Given the description of an element on the screen output the (x, y) to click on. 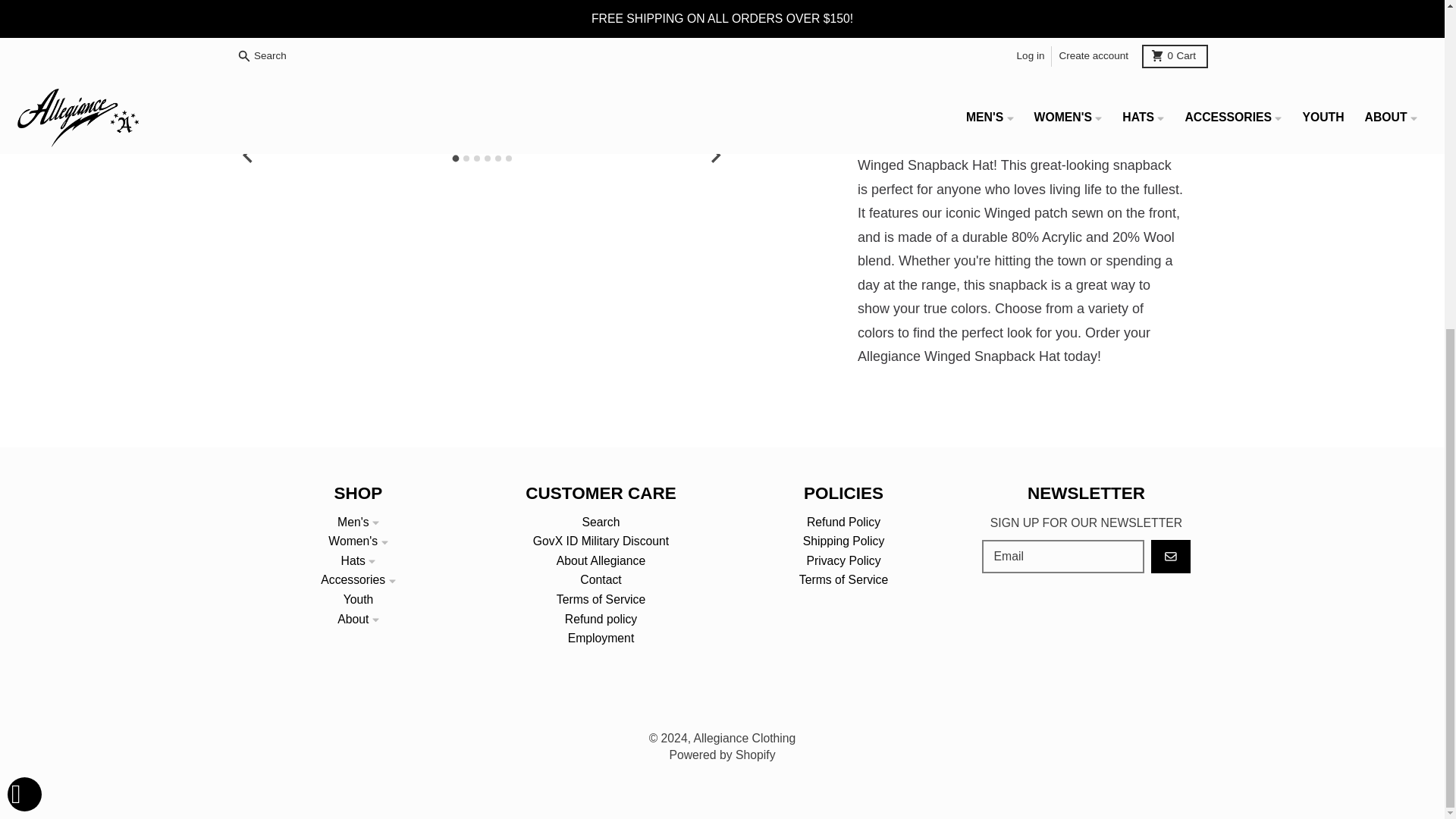
1 (925, 13)
